Given the description of an element on the screen output the (x, y) to click on. 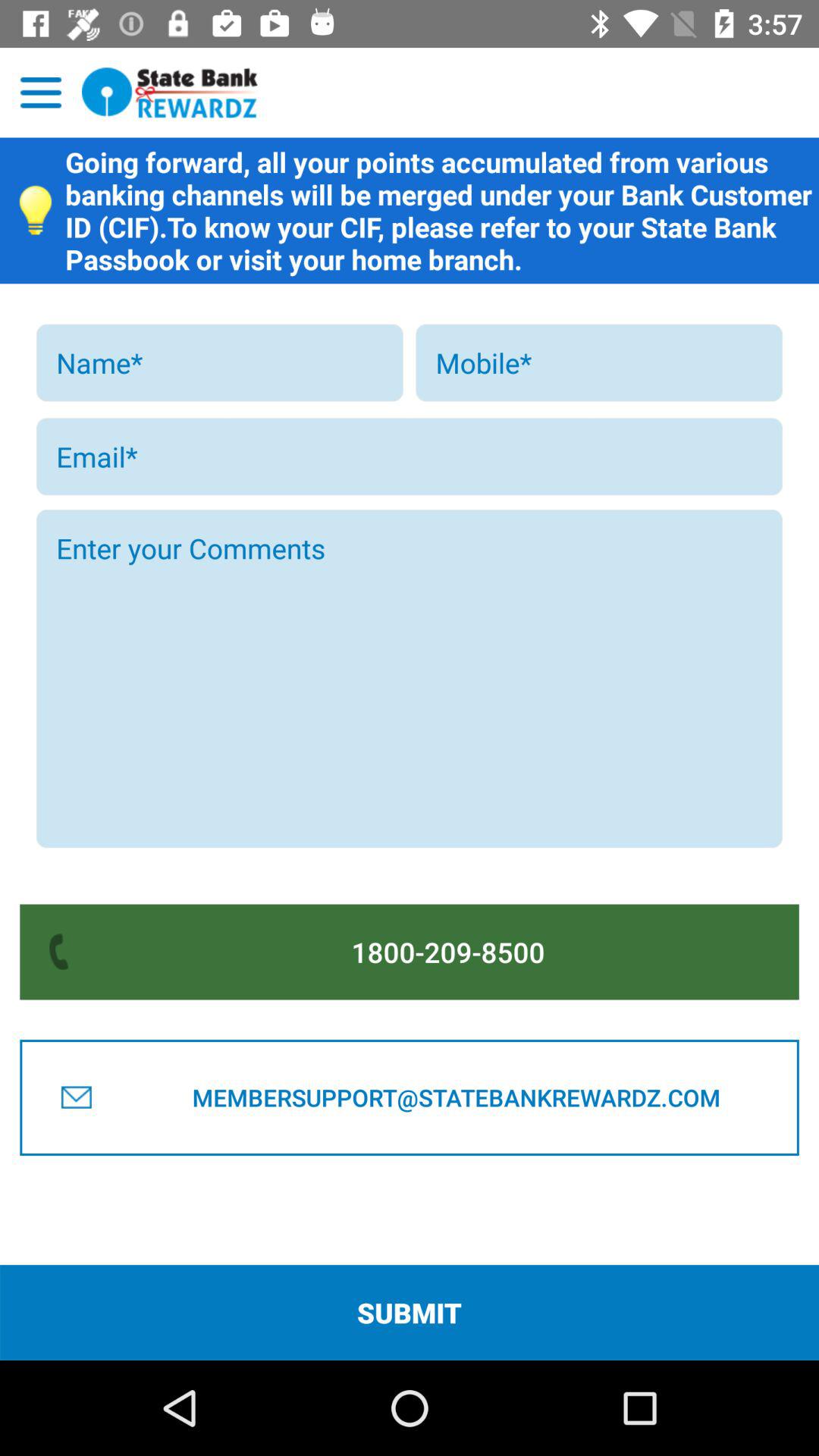
choose the icon above membersupport@statebankrewardz.com icon (448, 951)
